Given the description of an element on the screen output the (x, y) to click on. 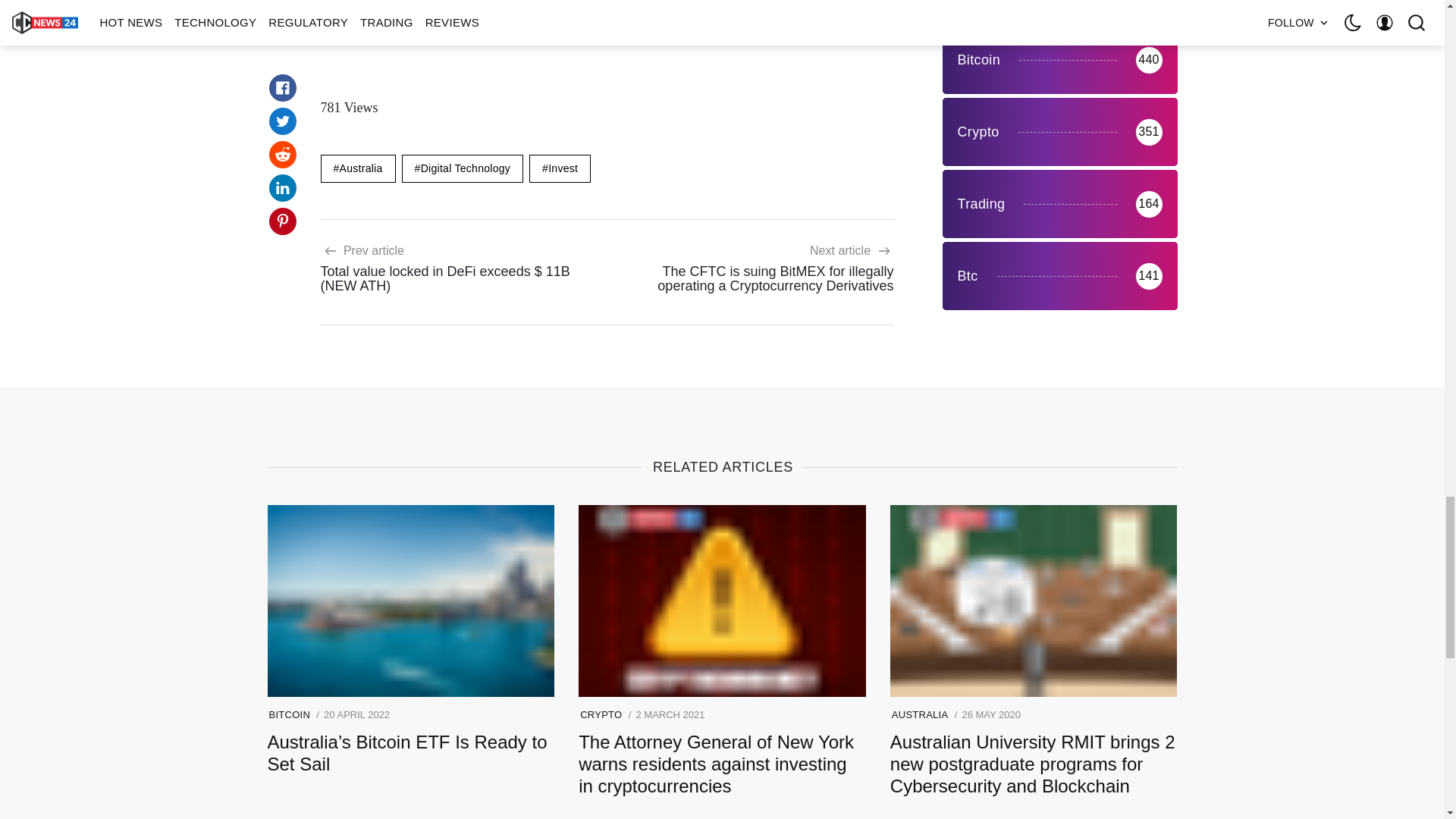
digital technology (462, 168)
invest (560, 168)
australia (357, 168)
